Given the description of an element on the screen output the (x, y) to click on. 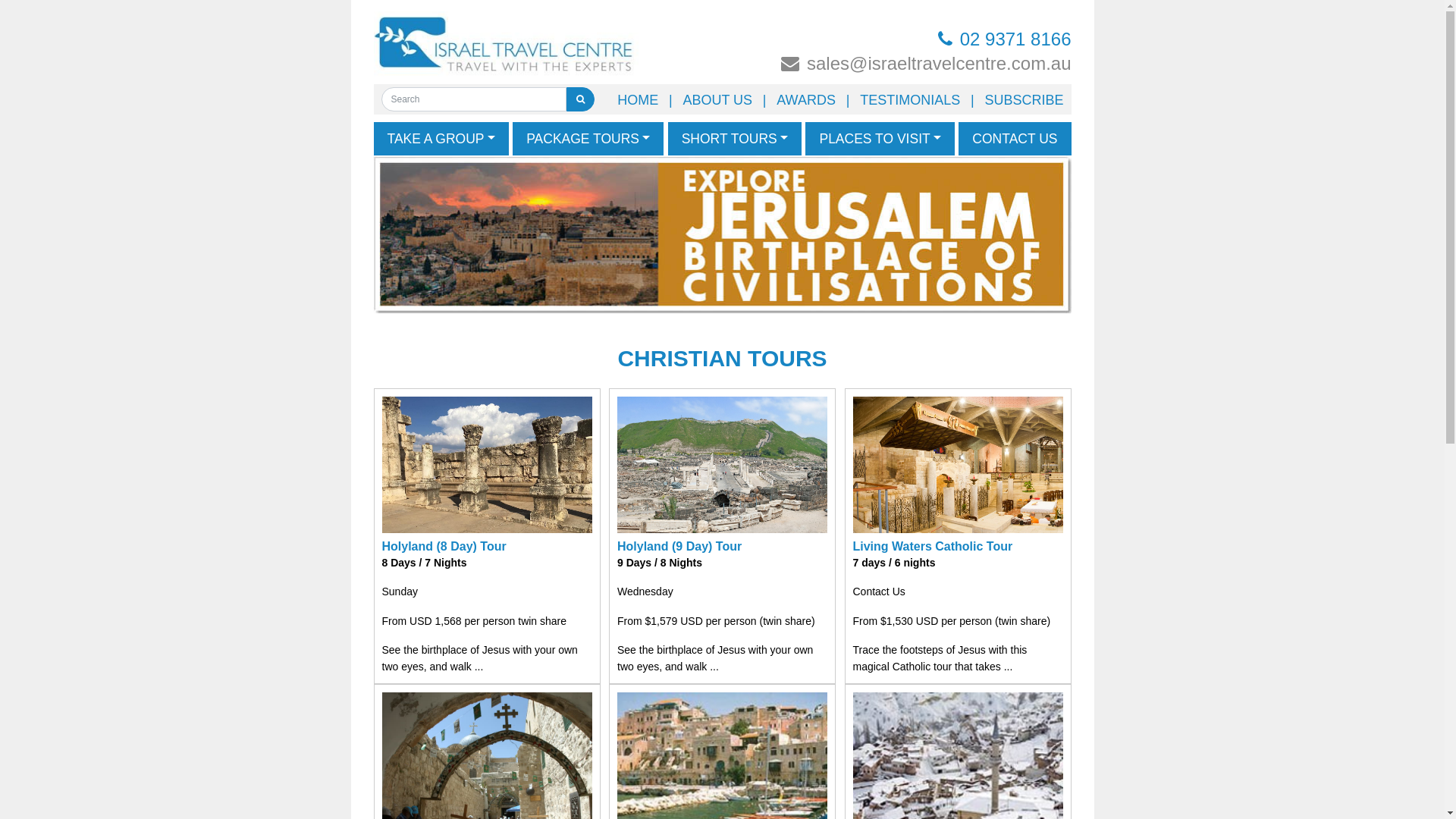
AWARDS Element type: text (805, 100)
TESTIMONIALS Element type: text (909, 100)
02 9371 8166 Element type: text (871, 39)
HOME Element type: text (637, 100)
PLACES TO VISIT Element type: text (879, 138)
SHORT TOURS Element type: text (735, 138)
CONTACT US Element type: text (1014, 138)
TAKE A GROUP Element type: text (440, 138)
Skip to content Element type: text (1443, 0)
ABOUT US Element type: text (717, 100)
PACKAGE TOURS Element type: text (587, 138)
sales@israeltravelcentre.com.au Element type: text (871, 62)
SUBSCRIBE Element type: text (1023, 100)
